Given the description of an element on the screen output the (x, y) to click on. 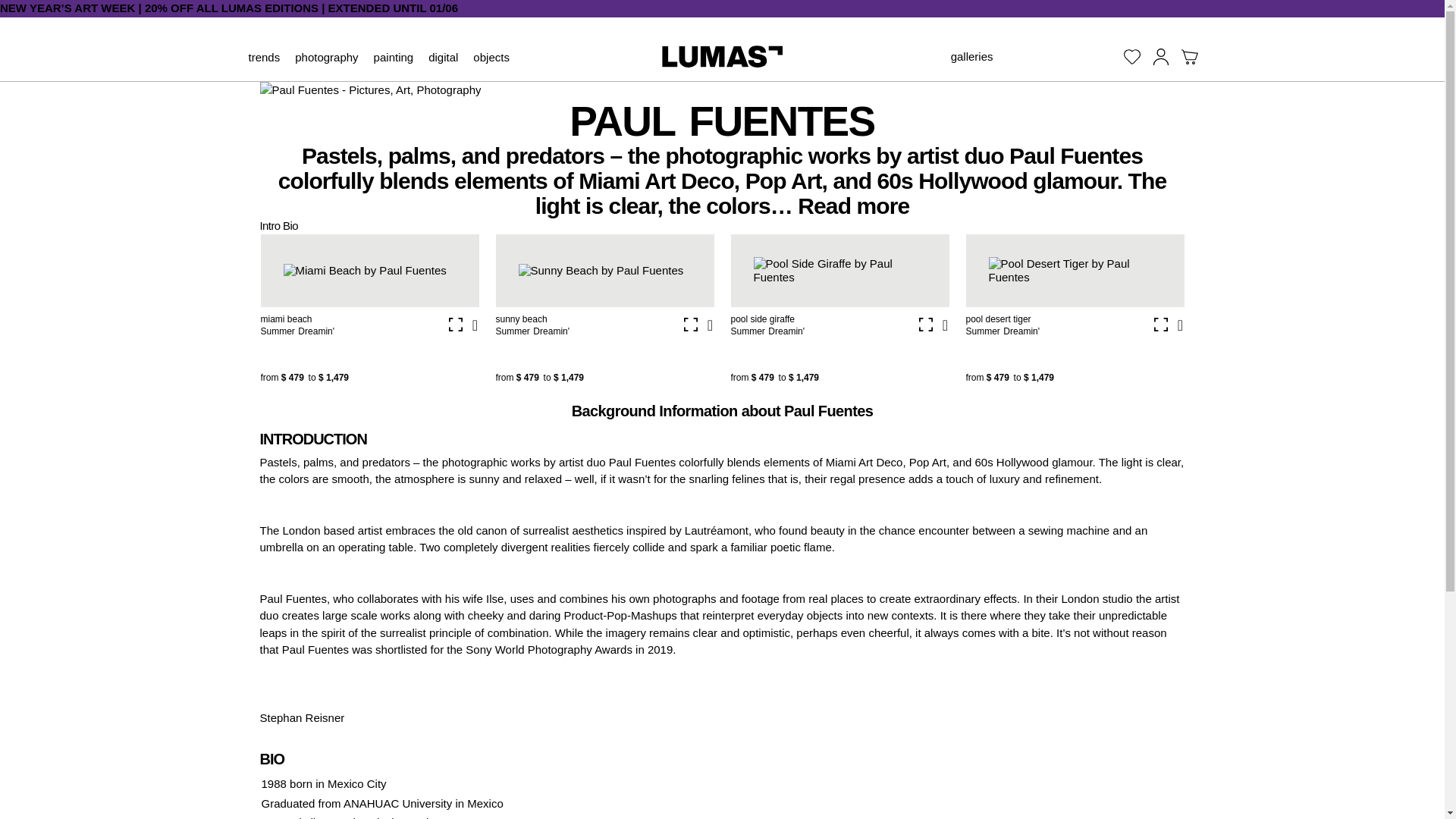
Log In (1160, 56)
Galleries Near You (971, 57)
